Given the description of an element on the screen output the (x, y) to click on. 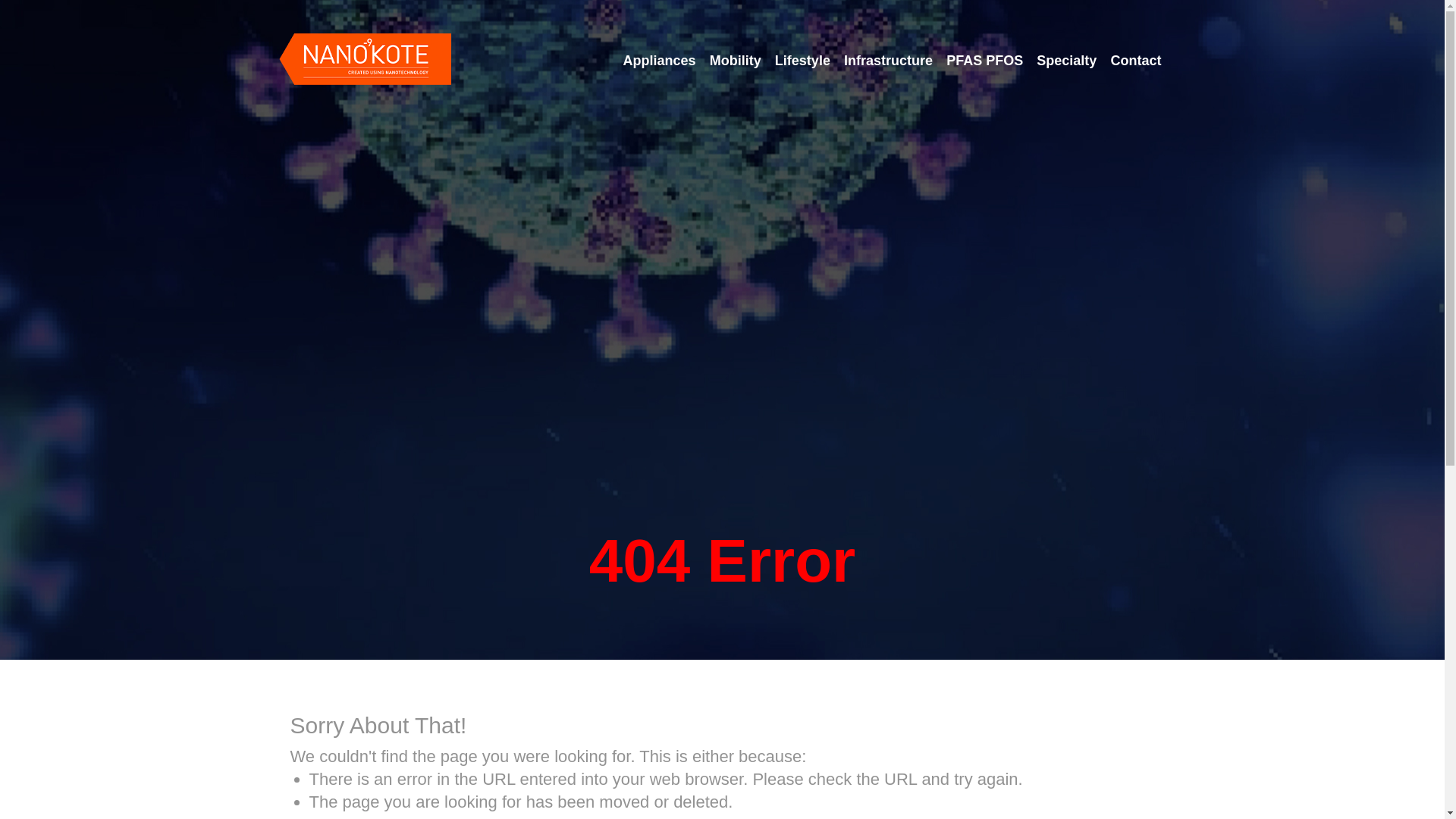
Contact Element type: text (1135, 60)
Infrastructure Element type: text (888, 60)
Lifestyle Element type: text (802, 60)
PFAS PFOS Element type: text (984, 60)
Mobility Element type: text (735, 60)
Appliances Element type: text (659, 60)
Specialty Element type: text (1066, 60)
